Given the description of an element on the screen output the (x, y) to click on. 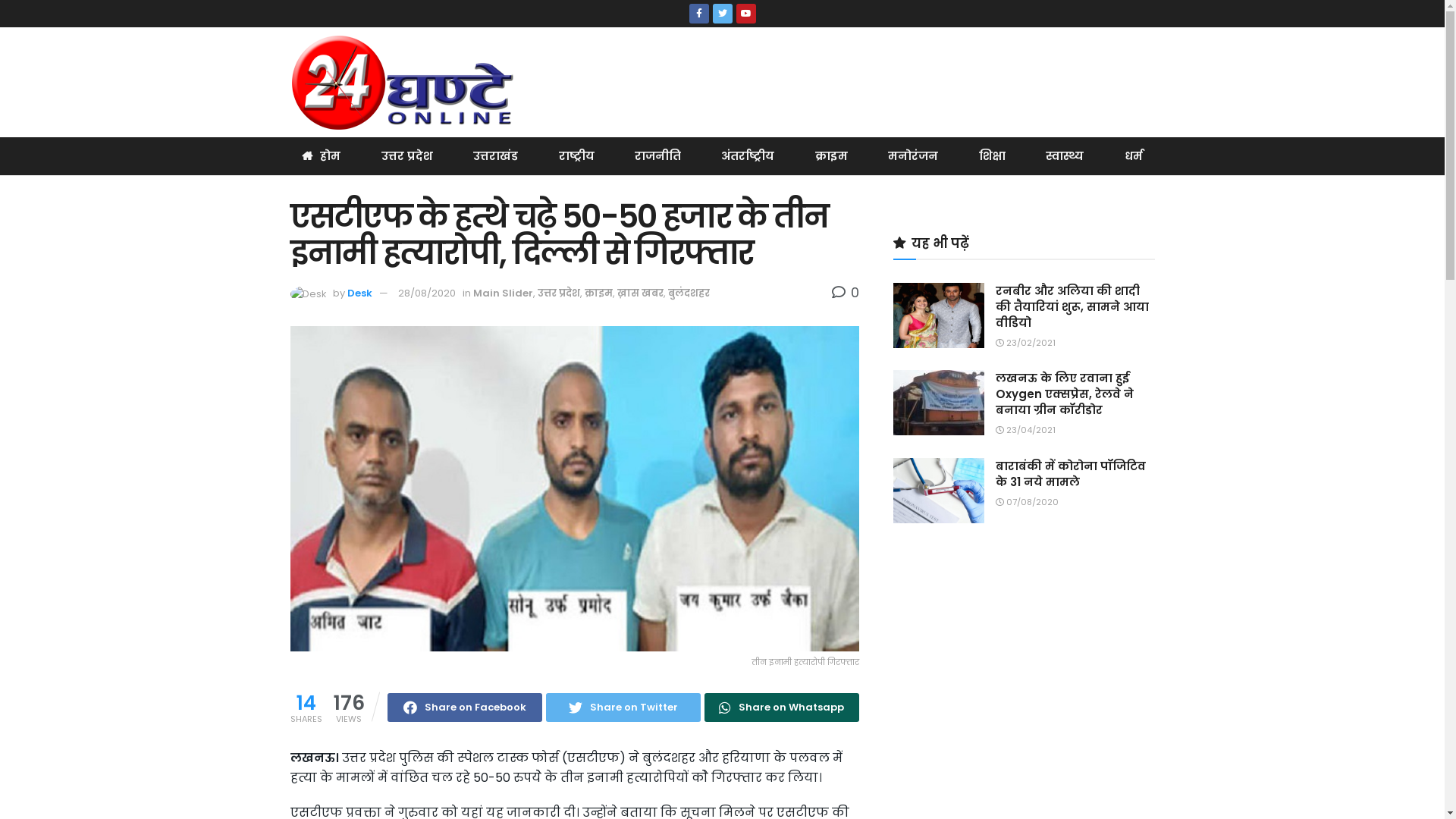
Main Slider Element type: text (503, 292)
Share on Facebook Element type: text (463, 707)
28/08/2020 Element type: text (426, 292)
23/04/2021 Element type: text (1024, 429)
0 Element type: text (844, 291)
23/02/2021 Element type: text (1024, 342)
Share on Whatsapp Element type: text (780, 707)
07/08/2020 Element type: text (1025, 501)
Share on Twitter Element type: text (623, 707)
Desk Element type: text (359, 292)
